Given the description of an element on the screen output the (x, y) to click on. 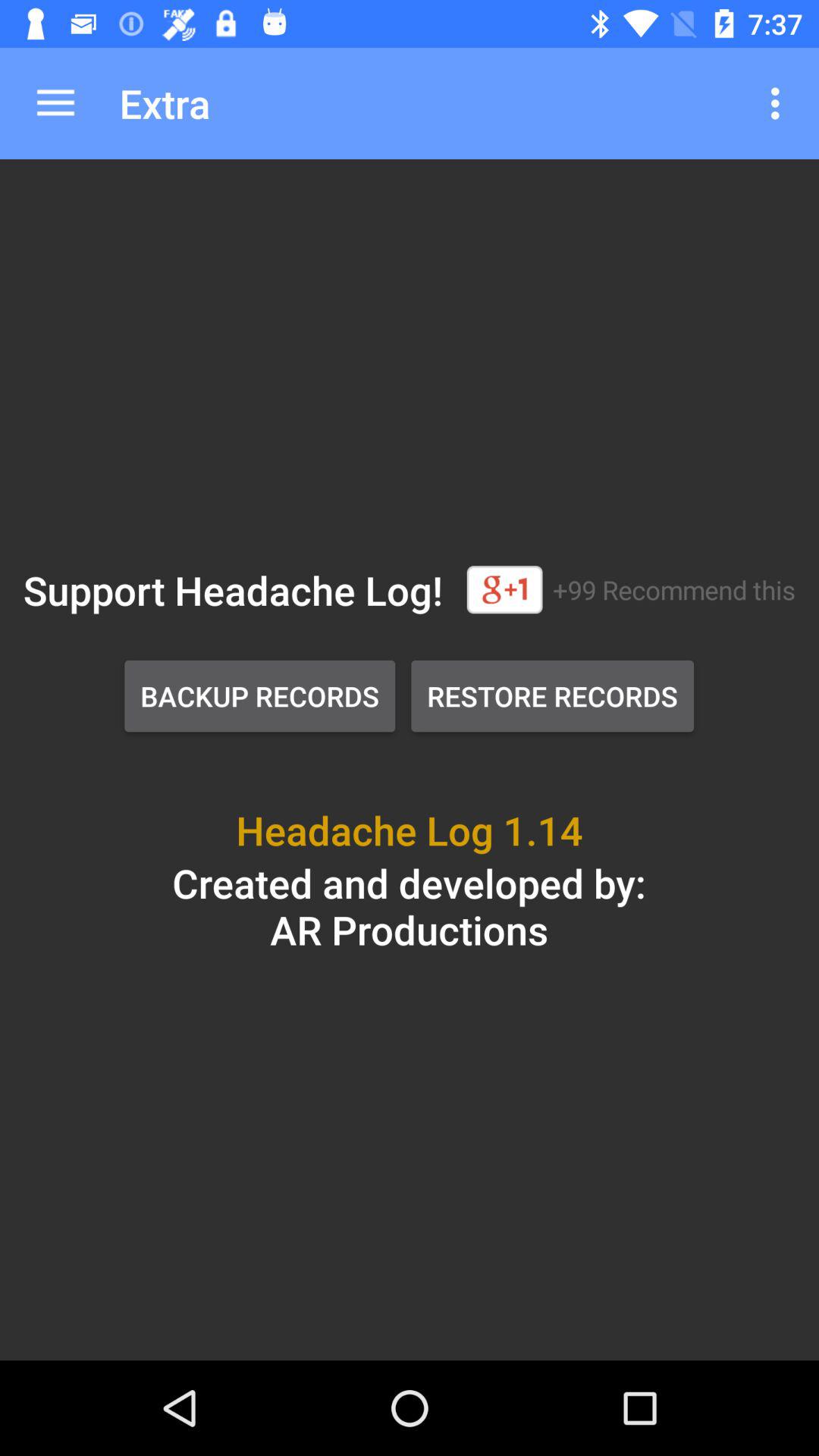
launch the item above support headache log! (55, 103)
